Given the description of an element on the screen output the (x, y) to click on. 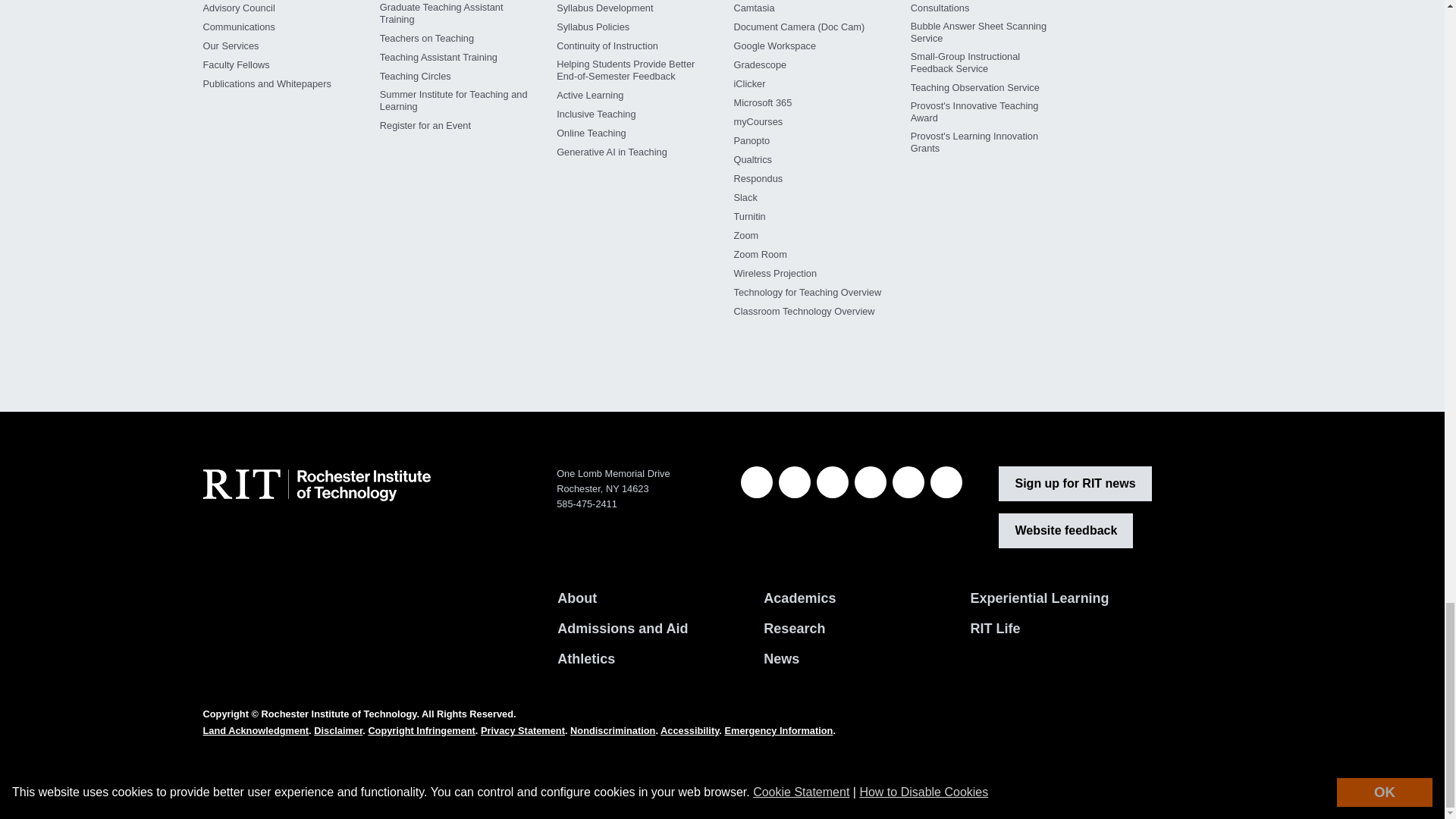
Access and interact with course materials online (758, 122)
Articles written by the CTL on effective teaching online. (591, 133)
Cloud-based student response system (749, 84)
Tools for file editing, sharing, and storage (774, 45)
Sophisticated online survey tool (752, 159)
Record and share asynchronous course videos (751, 140)
